Given the description of an element on the screen output the (x, y) to click on. 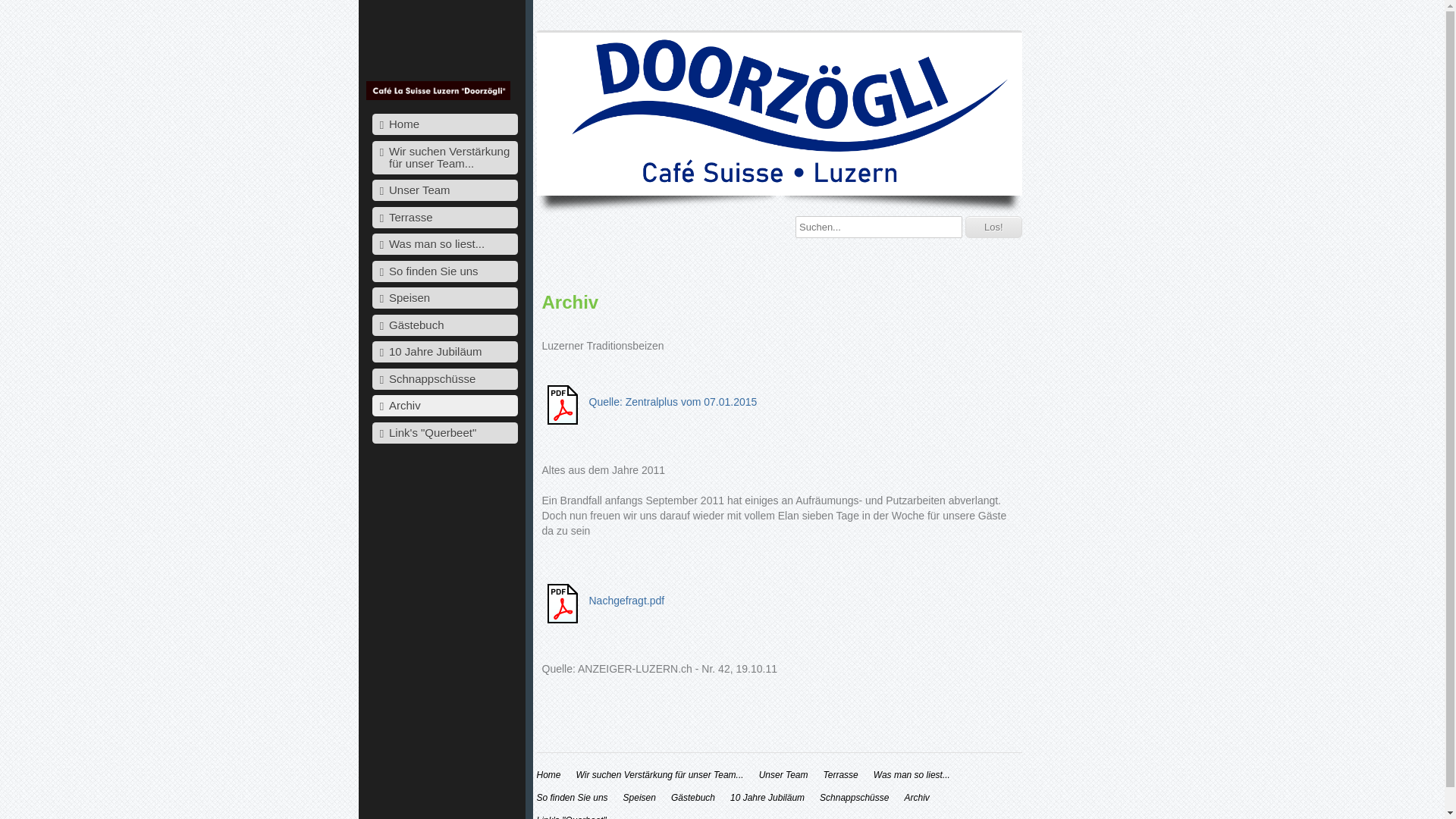
So finden Sie uns Element type: text (572, 797)
Speisen Element type: text (444, 297)
Quelle: Zentralplus vom 07.01.2015 Element type: text (672, 401)
Terrasse Element type: text (444, 216)
Home Element type: text (444, 123)
Terrasse Element type: text (840, 774)
Was man so liest... Element type: text (444, 243)
Speisen Element type: text (639, 797)
Unser Team Element type: text (444, 189)
Link's "Querbeet" Element type: text (444, 431)
Nachgefragt.pdf Element type: text (626, 600)
Archiv Element type: text (915, 797)
So finden Sie uns Element type: text (444, 271)
Los! Element type: text (993, 227)
Home Element type: text (548, 774)
Archiv Element type: text (444, 405)
Was man so liest... Element type: text (911, 774)
Unser Team Element type: text (783, 774)
